Given the description of an element on the screen output the (x, y) to click on. 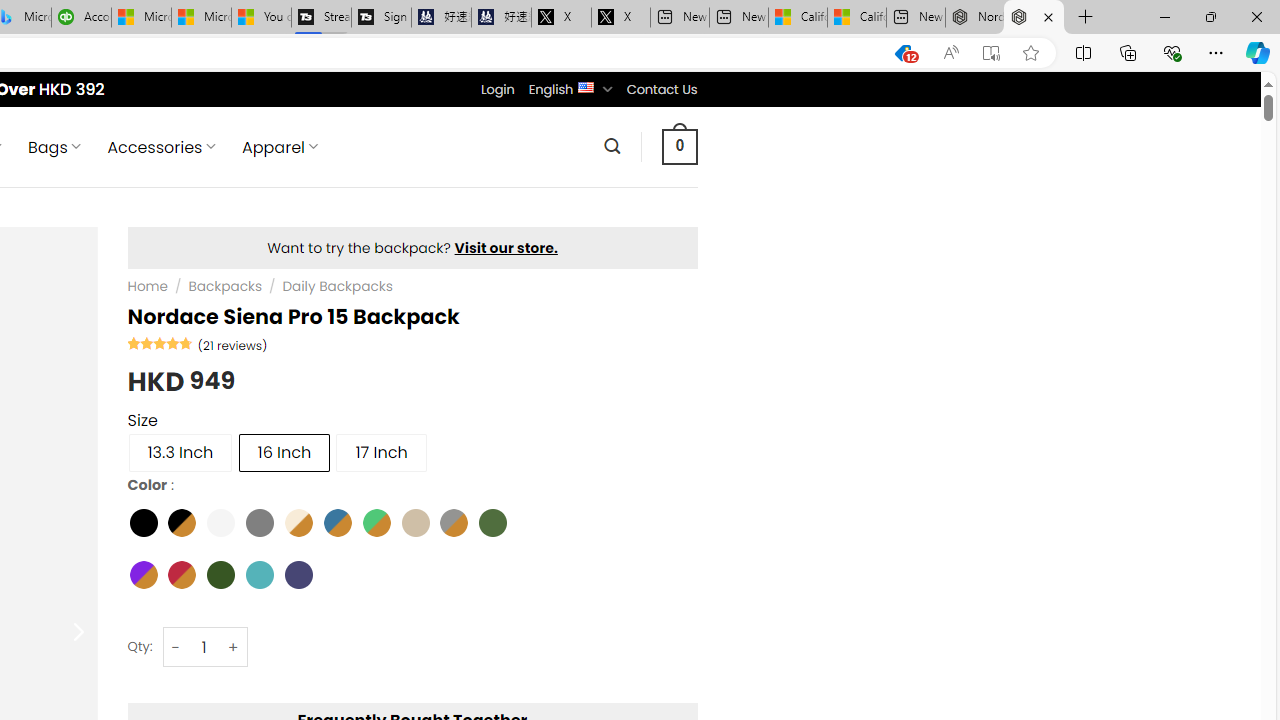
+ (234, 647)
  0   (679, 146)
Contact Us (661, 89)
